Given the description of an element on the screen output the (x, y) to click on. 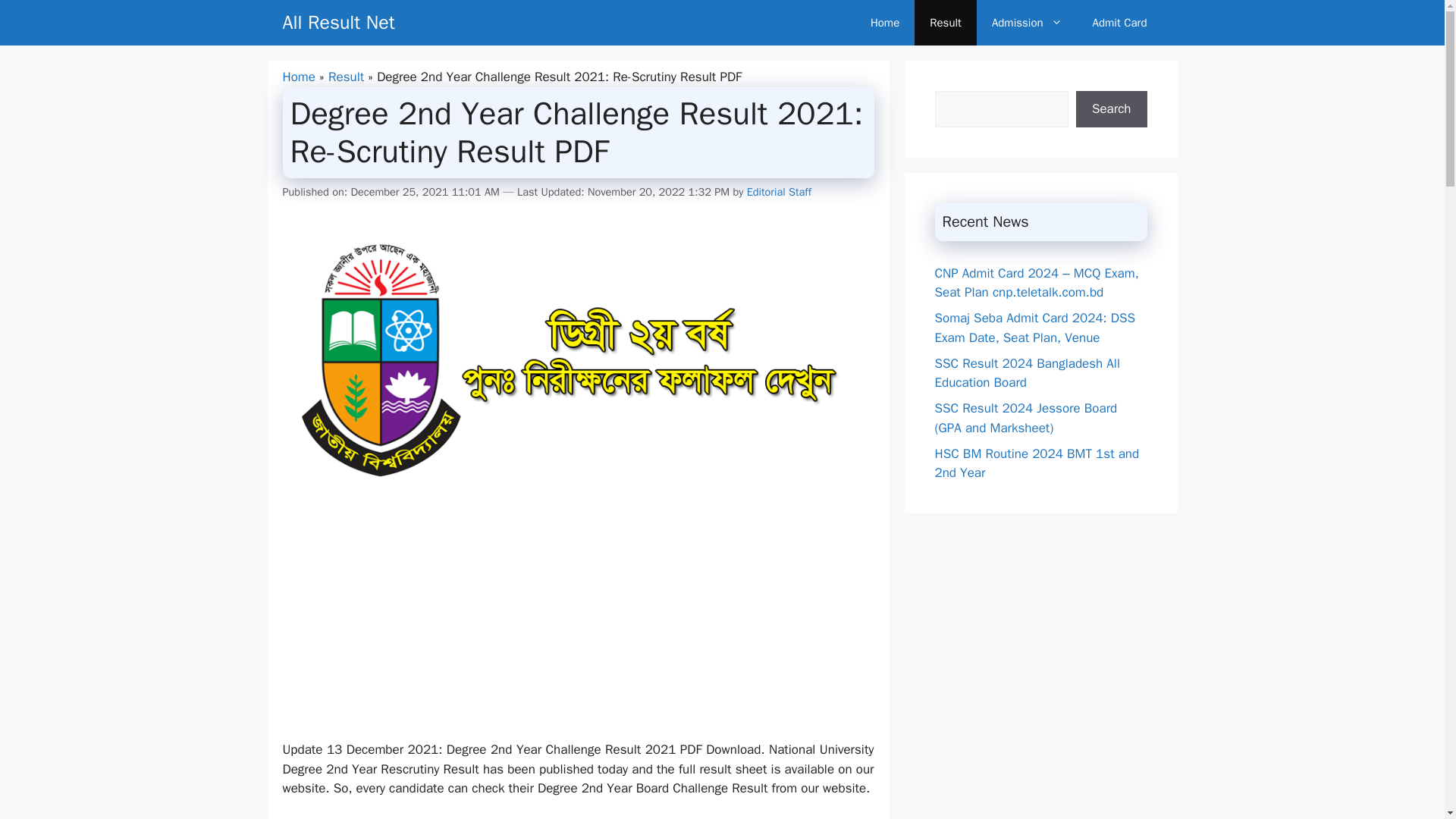
HSC BM Routine 2024 BMT 1st and 2nd Year (1036, 463)
SSC Result 2024 Bangladesh All Education Board (1026, 372)
Result (945, 22)
Home (885, 22)
Search (1111, 108)
All Result Net (338, 22)
Somaj Seba Admit Card 2024: DSS Exam Date, Seat Plan, Venue (1034, 327)
Home (298, 76)
View all posts by Editorial Staff (778, 192)
Editorial Staff (778, 192)
